Given the description of an element on the screen output the (x, y) to click on. 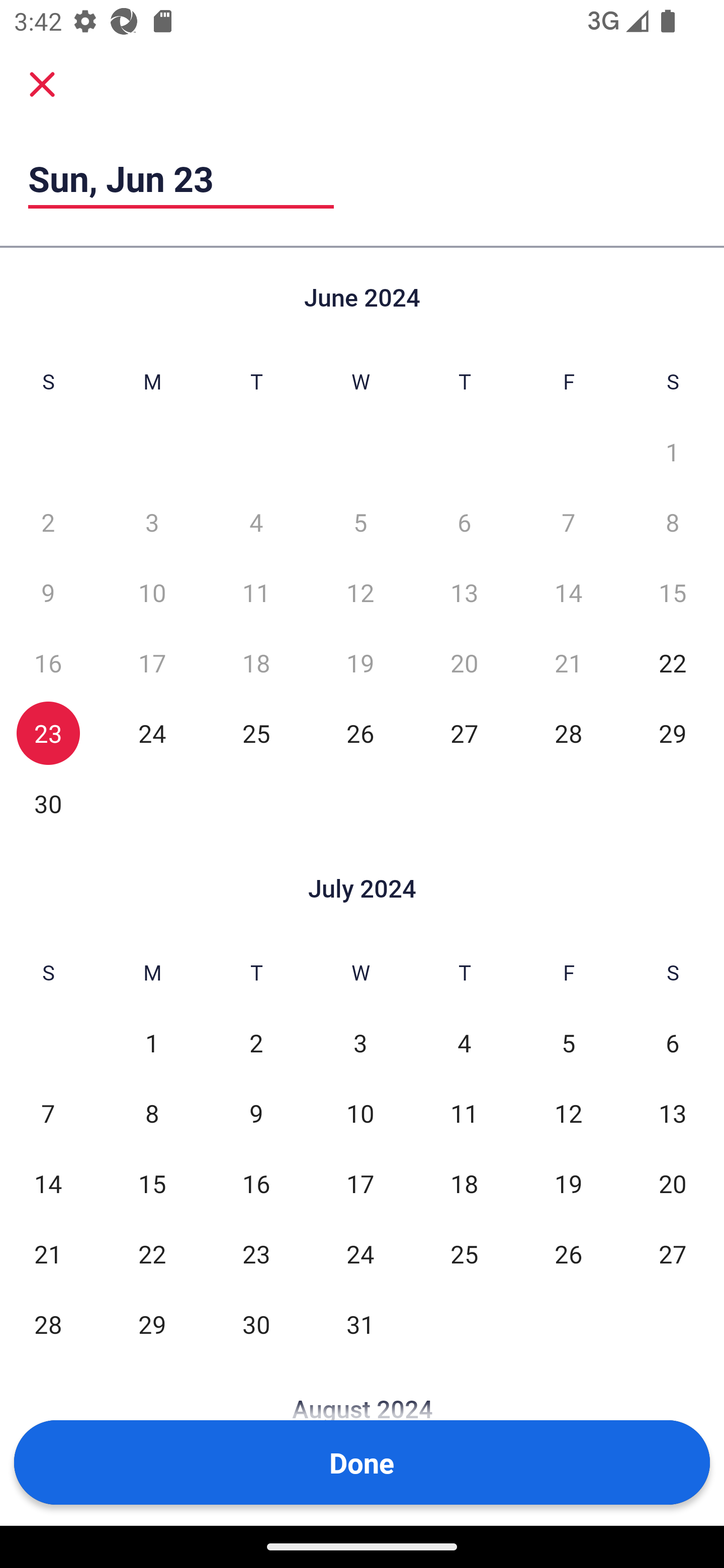
Cancel (41, 83)
Sun, Jun 23 (180, 178)
1 Sat, Jun 1, Not Selected (672, 452)
2 Sun, Jun 2, Not Selected (48, 521)
3 Mon, Jun 3, Not Selected (152, 521)
4 Tue, Jun 4, Not Selected (256, 521)
5 Wed, Jun 5, Not Selected (360, 521)
6 Thu, Jun 6, Not Selected (464, 521)
7 Fri, Jun 7, Not Selected (568, 521)
8 Sat, Jun 8, Not Selected (672, 521)
9 Sun, Jun 9, Not Selected (48, 591)
10 Mon, Jun 10, Not Selected (152, 591)
11 Tue, Jun 11, Not Selected (256, 591)
12 Wed, Jun 12, Not Selected (360, 591)
13 Thu, Jun 13, Not Selected (464, 591)
14 Fri, Jun 14, Not Selected (568, 591)
15 Sat, Jun 15, Not Selected (672, 591)
16 Sun, Jun 16, Not Selected (48, 662)
17 Mon, Jun 17, Not Selected (152, 662)
18 Tue, Jun 18, Not Selected (256, 662)
19 Wed, Jun 19, Not Selected (360, 662)
20 Thu, Jun 20, Not Selected (464, 662)
21 Fri, Jun 21, Not Selected (568, 662)
22 Sat, Jun 22, Not Selected (672, 662)
23 Sun, Jun 23, Selected (48, 732)
24 Mon, Jun 24, Not Selected (152, 732)
25 Tue, Jun 25, Not Selected (256, 732)
26 Wed, Jun 26, Not Selected (360, 732)
27 Thu, Jun 27, Not Selected (464, 732)
28 Fri, Jun 28, Not Selected (568, 732)
29 Sat, Jun 29, Not Selected (672, 732)
30 Sun, Jun 30, Not Selected (48, 803)
1 Mon, Jul 1, Not Selected (152, 1043)
2 Tue, Jul 2, Not Selected (256, 1043)
3 Wed, Jul 3, Not Selected (360, 1043)
4 Thu, Jul 4, Not Selected (464, 1043)
5 Fri, Jul 5, Not Selected (568, 1043)
6 Sat, Jul 6, Not Selected (672, 1043)
7 Sun, Jul 7, Not Selected (48, 1112)
8 Mon, Jul 8, Not Selected (152, 1112)
9 Tue, Jul 9, Not Selected (256, 1112)
10 Wed, Jul 10, Not Selected (360, 1112)
11 Thu, Jul 11, Not Selected (464, 1112)
12 Fri, Jul 12, Not Selected (568, 1112)
13 Sat, Jul 13, Not Selected (672, 1112)
14 Sun, Jul 14, Not Selected (48, 1182)
15 Mon, Jul 15, Not Selected (152, 1182)
16 Tue, Jul 16, Not Selected (256, 1182)
17 Wed, Jul 17, Not Selected (360, 1182)
18 Thu, Jul 18, Not Selected (464, 1182)
19 Fri, Jul 19, Not Selected (568, 1182)
20 Sat, Jul 20, Not Selected (672, 1182)
21 Sun, Jul 21, Not Selected (48, 1253)
22 Mon, Jul 22, Not Selected (152, 1253)
23 Tue, Jul 23, Not Selected (256, 1253)
24 Wed, Jul 24, Not Selected (360, 1253)
25 Thu, Jul 25, Not Selected (464, 1253)
26 Fri, Jul 26, Not Selected (568, 1253)
27 Sat, Jul 27, Not Selected (672, 1253)
28 Sun, Jul 28, Not Selected (48, 1323)
29 Mon, Jul 29, Not Selected (152, 1323)
30 Tue, Jul 30, Not Selected (256, 1323)
31 Wed, Jul 31, Not Selected (360, 1323)
Done Button Done (361, 1462)
